Given the description of an element on the screen output the (x, y) to click on. 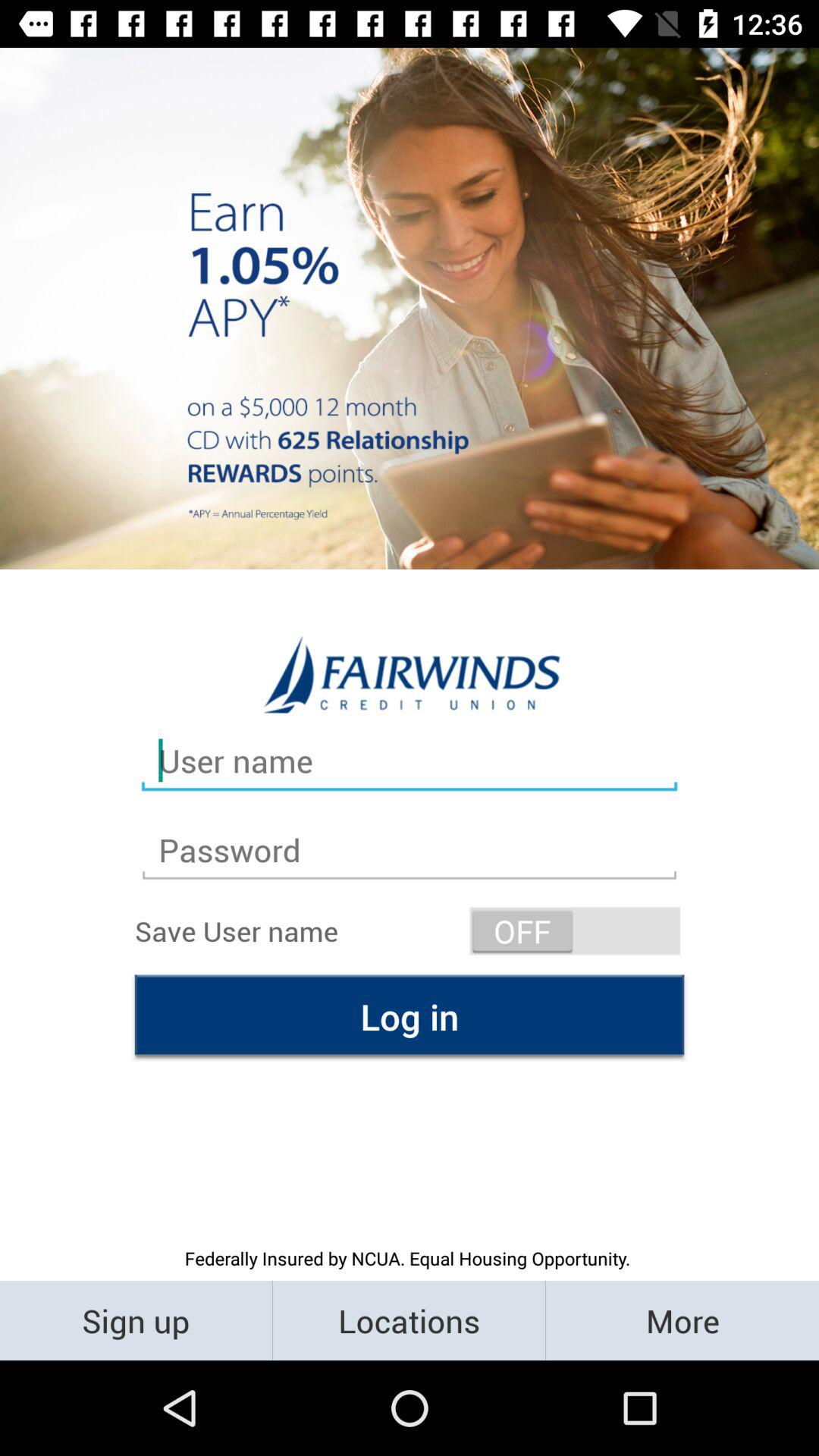
press the item below federally insured by icon (682, 1320)
